Given the description of an element on the screen output the (x, y) to click on. 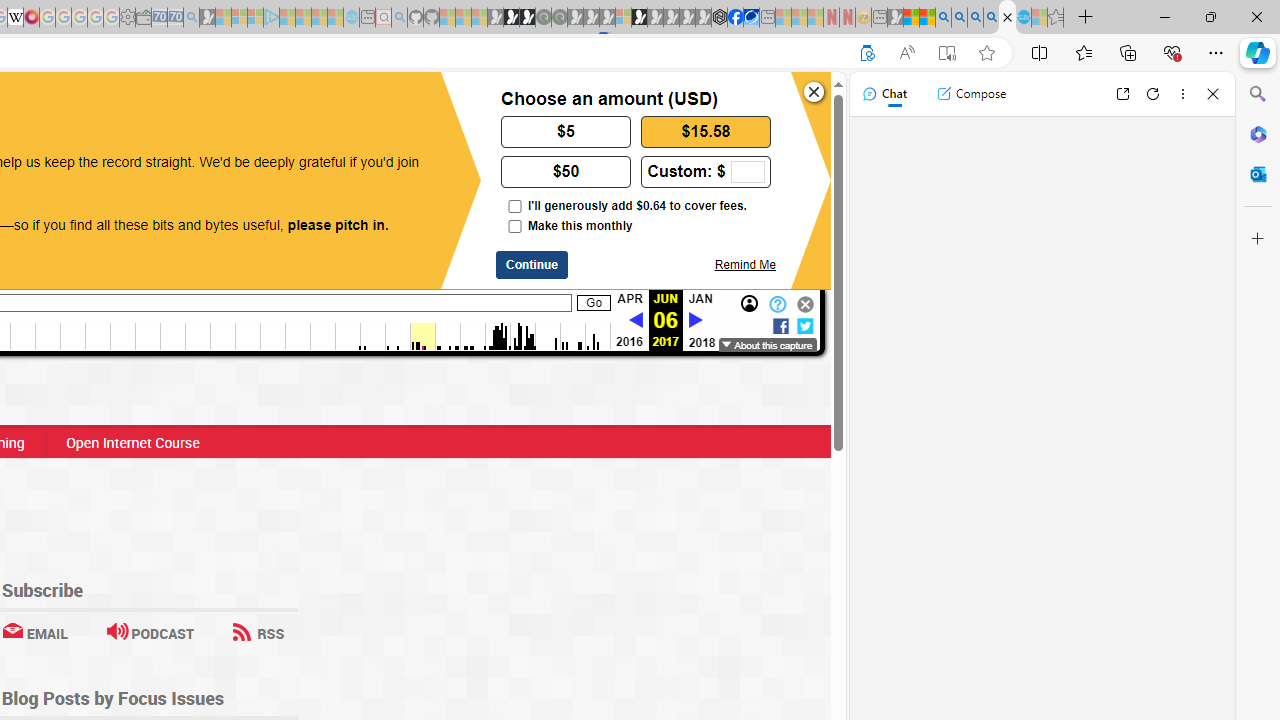
JAN (700, 299)
Next capture (695, 319)
Google Chrome Internet Browser Download - Search Images (991, 17)
RSS (258, 632)
Continue (532, 265)
EMAIL (34, 632)
